Given the description of an element on the screen output the (x, y) to click on. 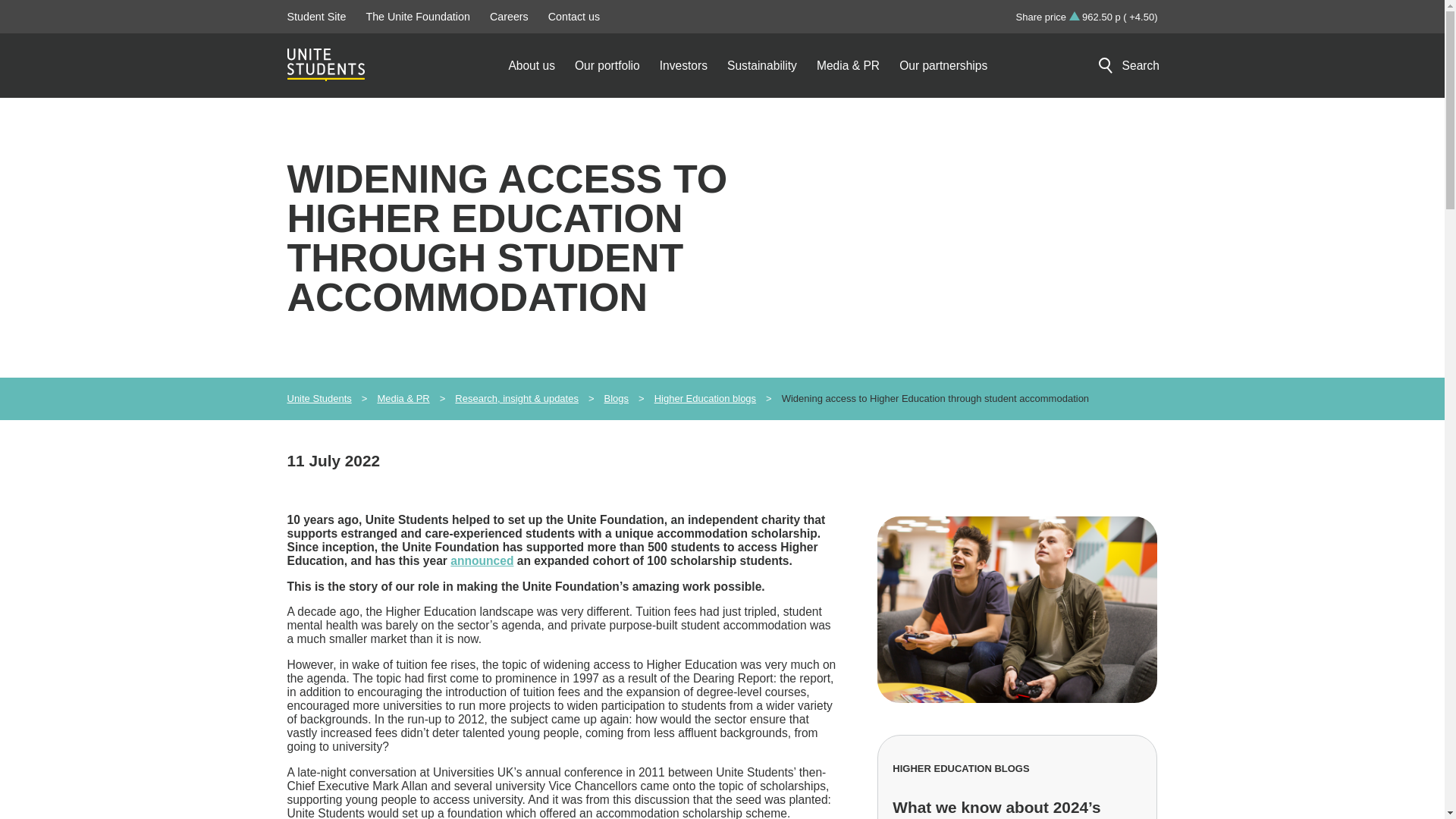
Investors (692, 65)
Sustainability (771, 65)
Student Site (317, 16)
About us (541, 65)
The Unite Foundation (417, 16)
Contact us (574, 16)
Our portfolio (617, 65)
Careers (509, 16)
